Given the description of an element on the screen output the (x, y) to click on. 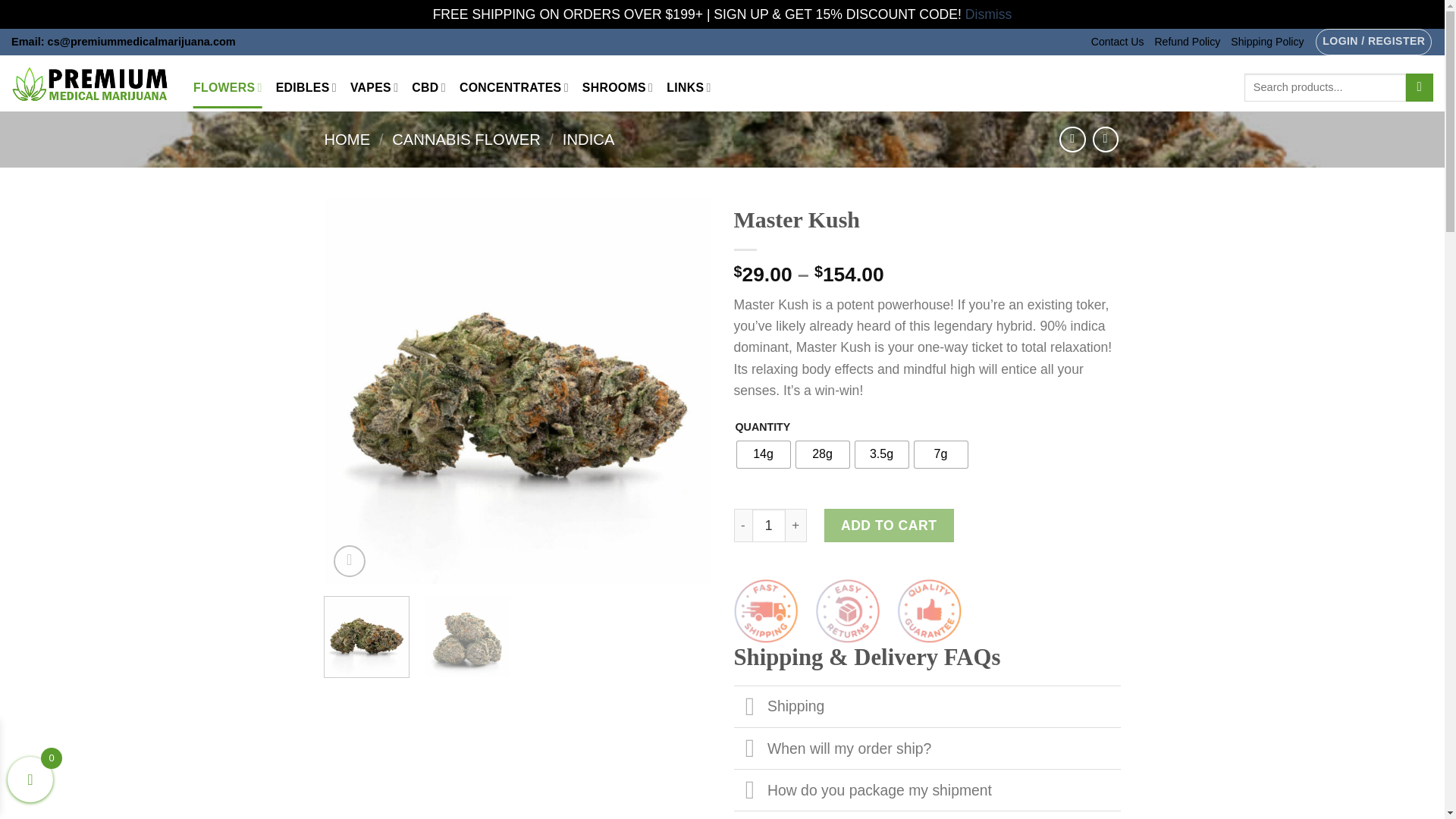
CONCENTRATES (514, 87)
Zoom (349, 561)
28g (822, 454)
EDIBLES (306, 87)
VAPES (373, 87)
Refund Policy (1187, 41)
Shipping Policy (1266, 41)
Contact Us (1117, 41)
7g (941, 454)
